Given the description of an element on the screen output the (x, y) to click on. 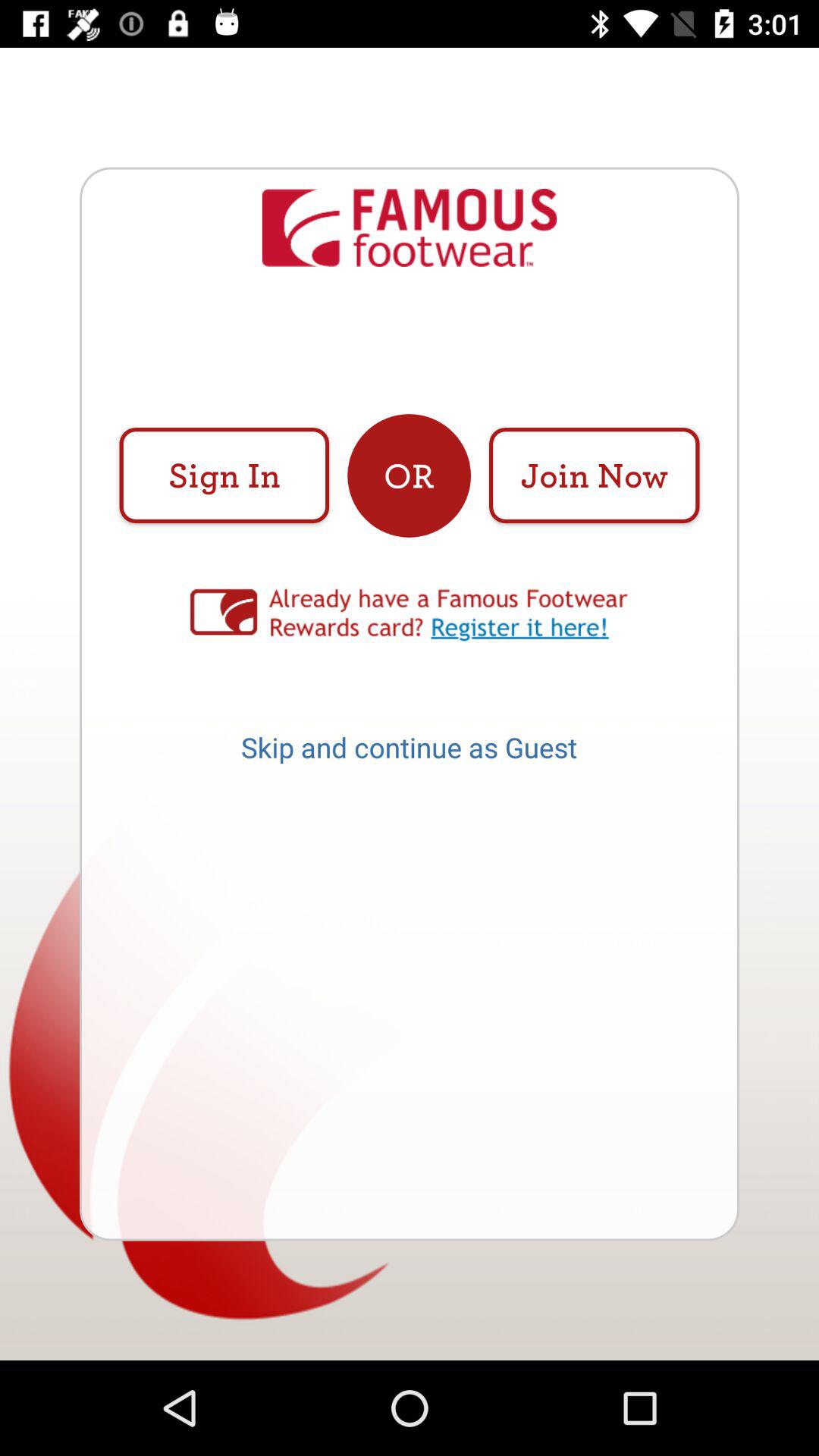
click item to the left of the or item (224, 475)
